Given the description of an element on the screen output the (x, y) to click on. 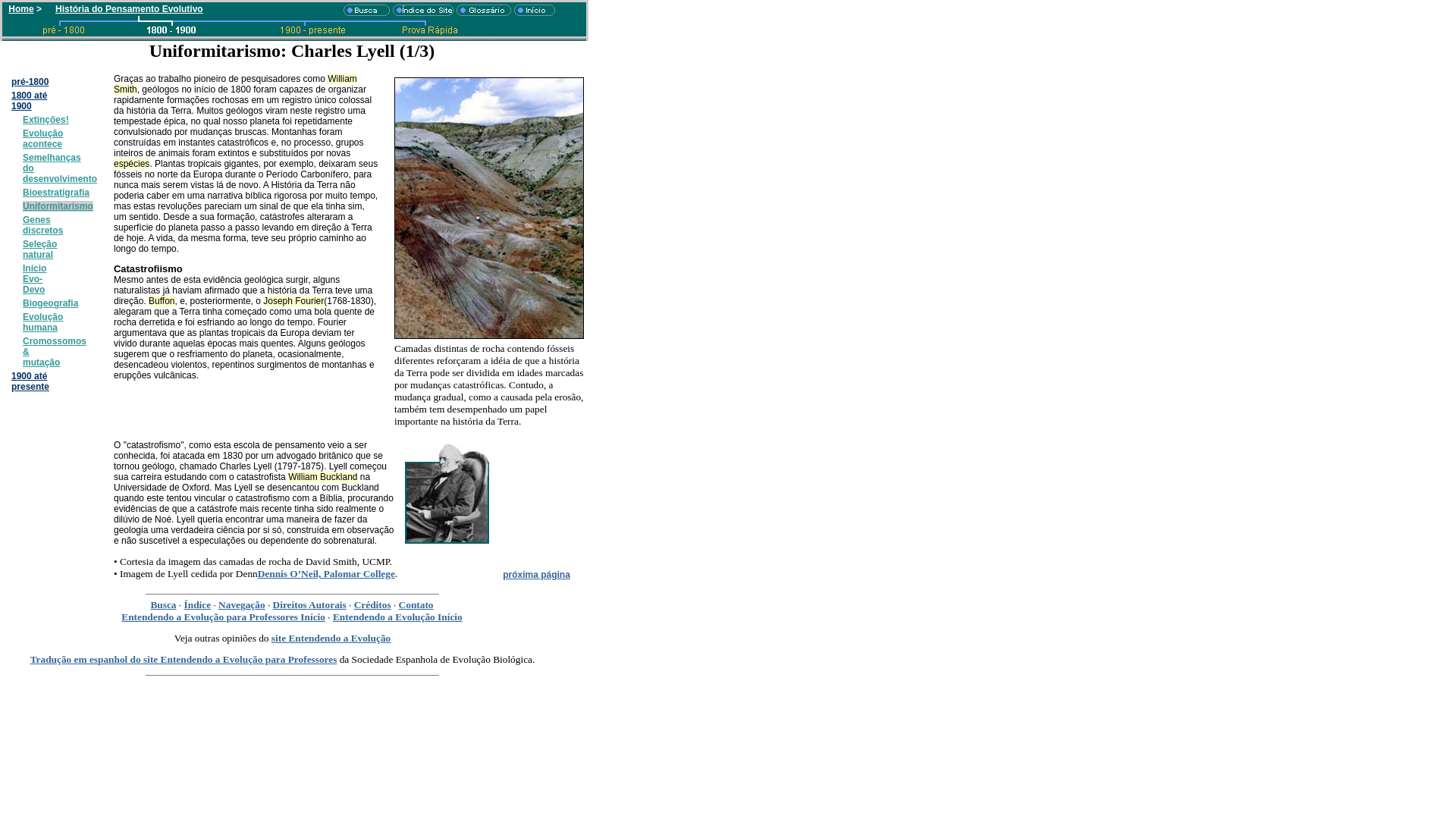
Uniformitarismo Element type: text (57, 205)
Contato Element type: text (415, 604)
Bioestratigrafia Element type: text (55, 192)
Genes discretos Element type: text (42, 224)
Buffon Element type: text (161, 300)
William Buckland Element type: text (322, 476)
Direitos Autorais Element type: text (309, 604)
William Smith Element type: text (235, 83)
Biogeografia Element type: text (50, 303)
Home Element type: text (20, 8)
Joseph Fourier Element type: text (293, 300)
Busca Element type: text (162, 604)
